Given the description of an element on the screen output the (x, y) to click on. 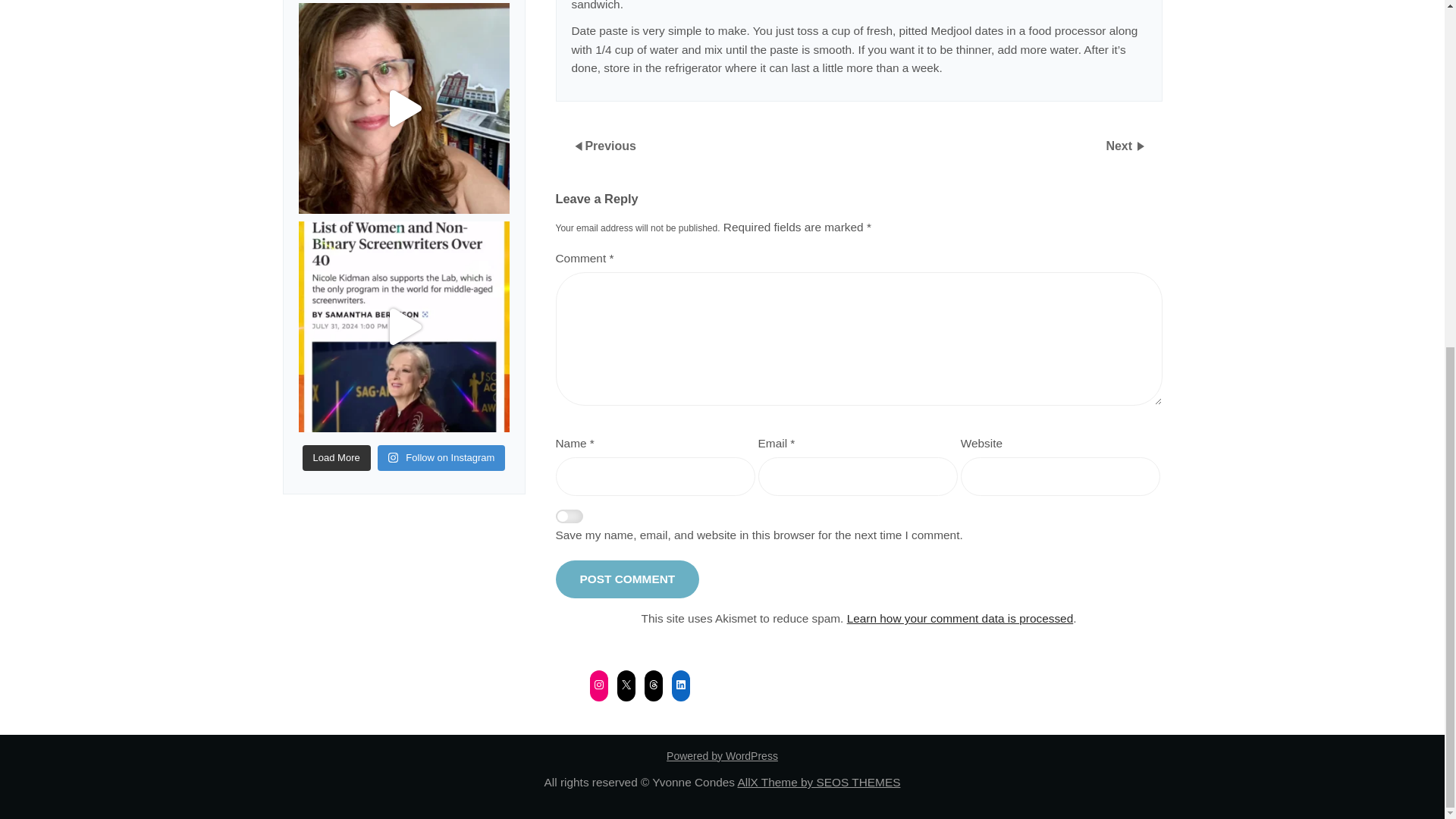
Learn how your comment data is processed (960, 617)
Load More (336, 457)
Post Comment (626, 579)
Next (1120, 144)
Previous (610, 144)
yes (568, 517)
Post Comment (626, 579)
AllX Theme by SEOS THEMES (817, 781)
SEOS THEMES - AllX (817, 781)
Powered by WordPress (721, 756)
